Given the description of an element on the screen output the (x, y) to click on. 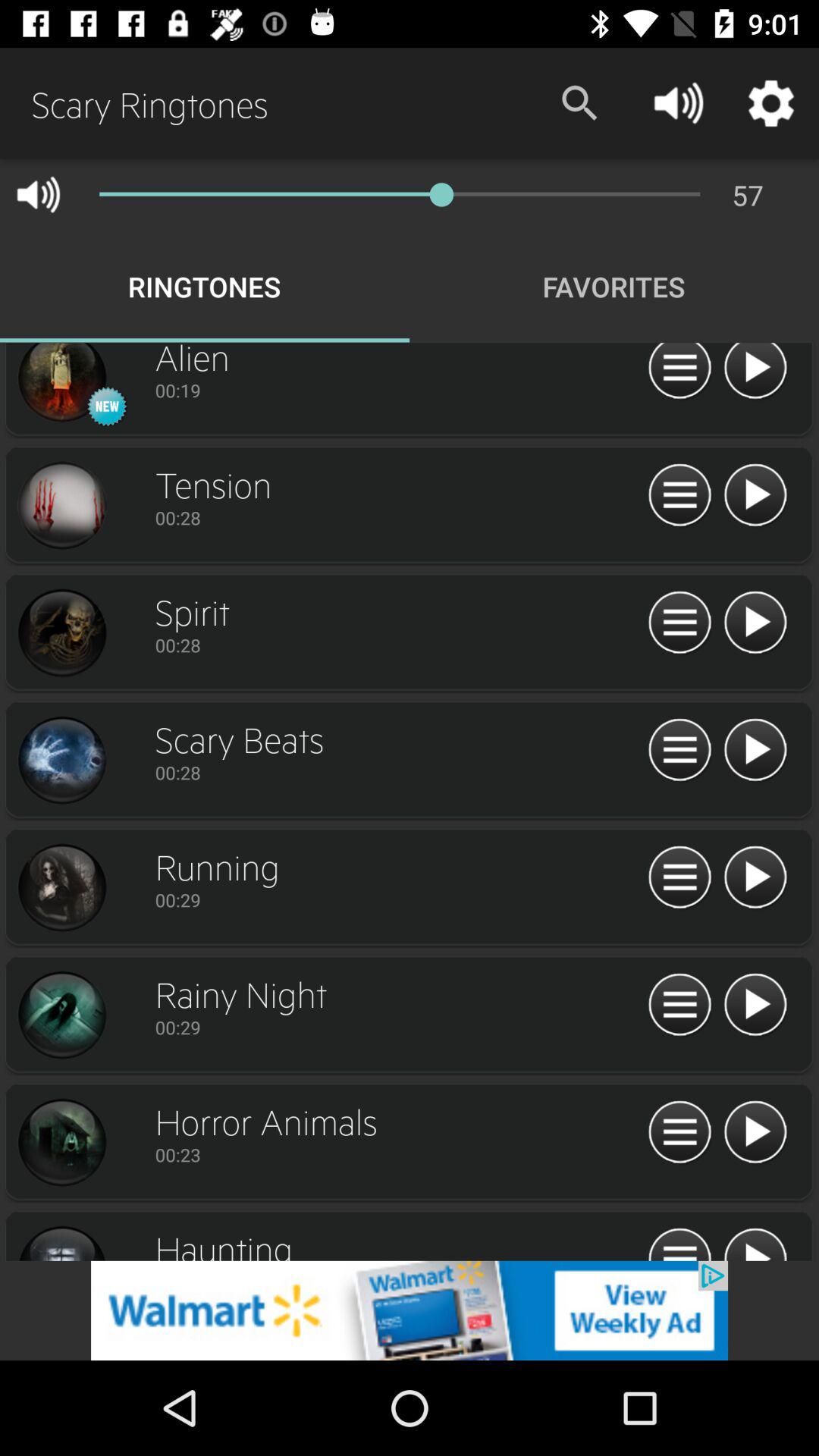
see details (679, 1005)
